Given the description of an element on the screen output the (x, y) to click on. 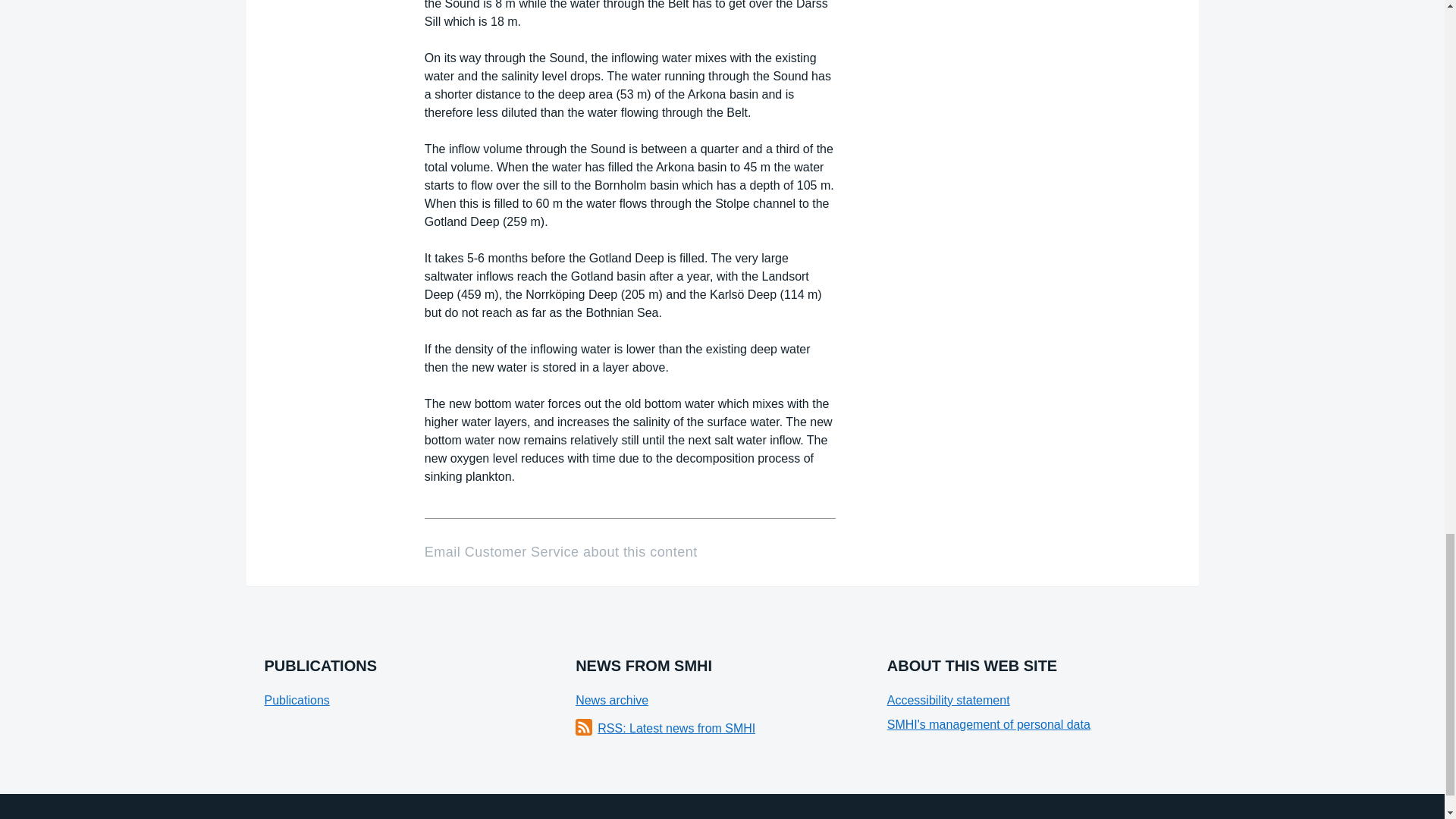
News from SMHI (665, 728)
